Given the description of an element on the screen output the (x, y) to click on. 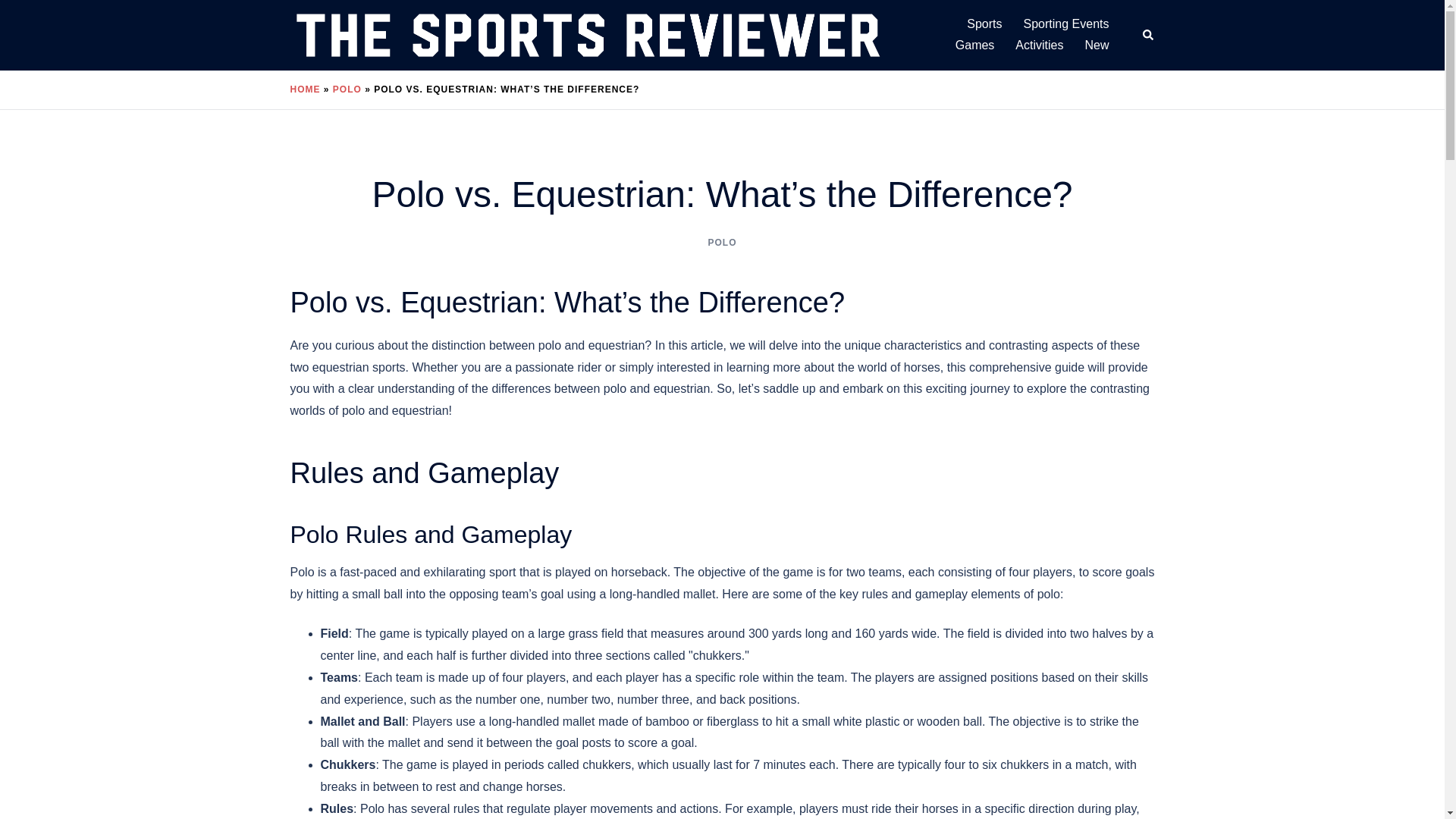
TheSportsReviewer.com (586, 33)
POLO (721, 242)
Sporting Events (1066, 24)
Sports (983, 24)
HOME (304, 89)
Activities (1038, 45)
POLO (347, 89)
Games (974, 45)
Search (1147, 34)
New (1096, 45)
